Given the description of an element on the screen output the (x, y) to click on. 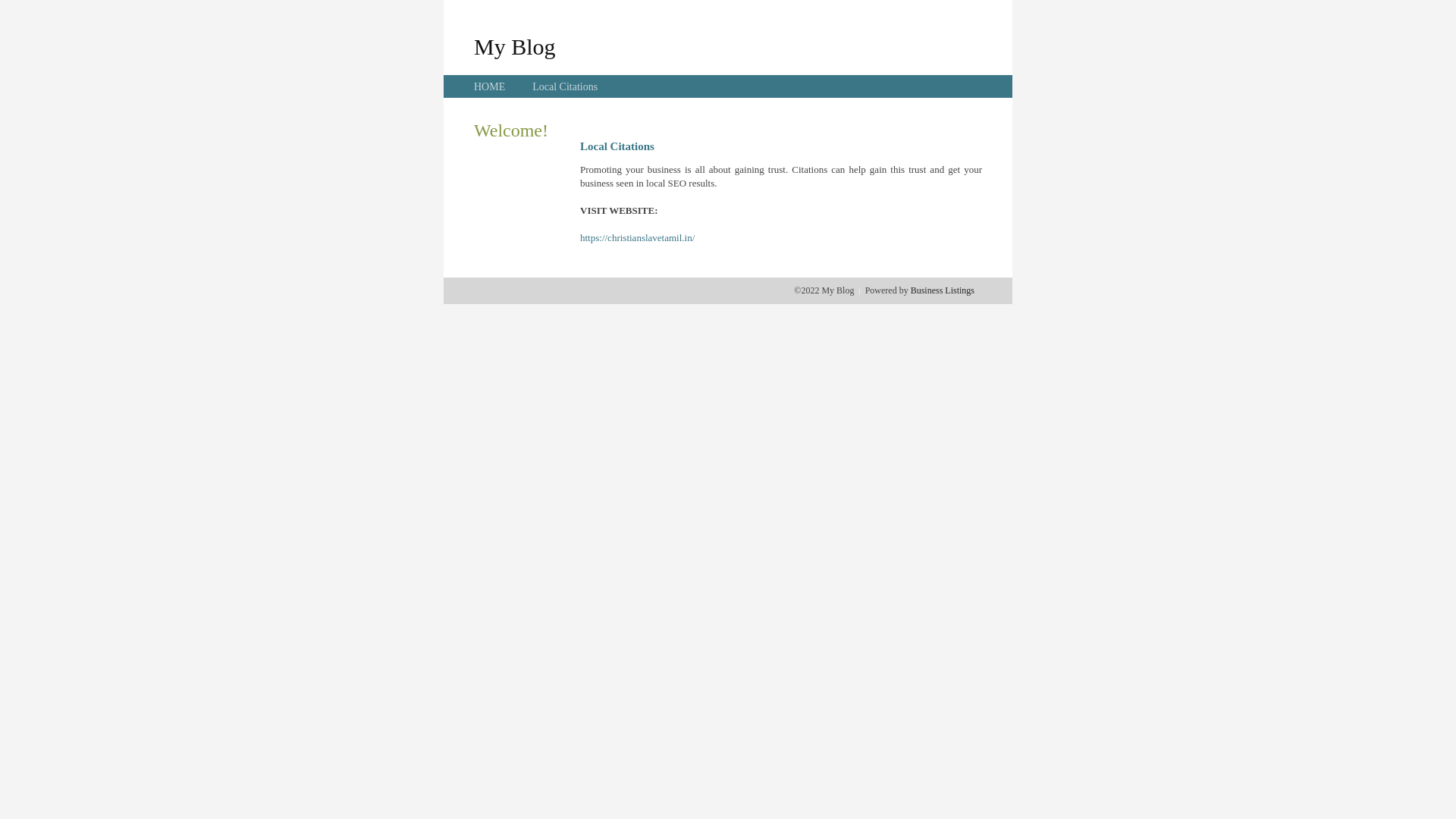
Local Citations Element type: text (564, 86)
HOME Element type: text (489, 86)
My Blog Element type: text (514, 46)
https://christianslavetamil.in/ Element type: text (637, 237)
Business Listings Element type: text (942, 290)
